Given the description of an element on the screen output the (x, y) to click on. 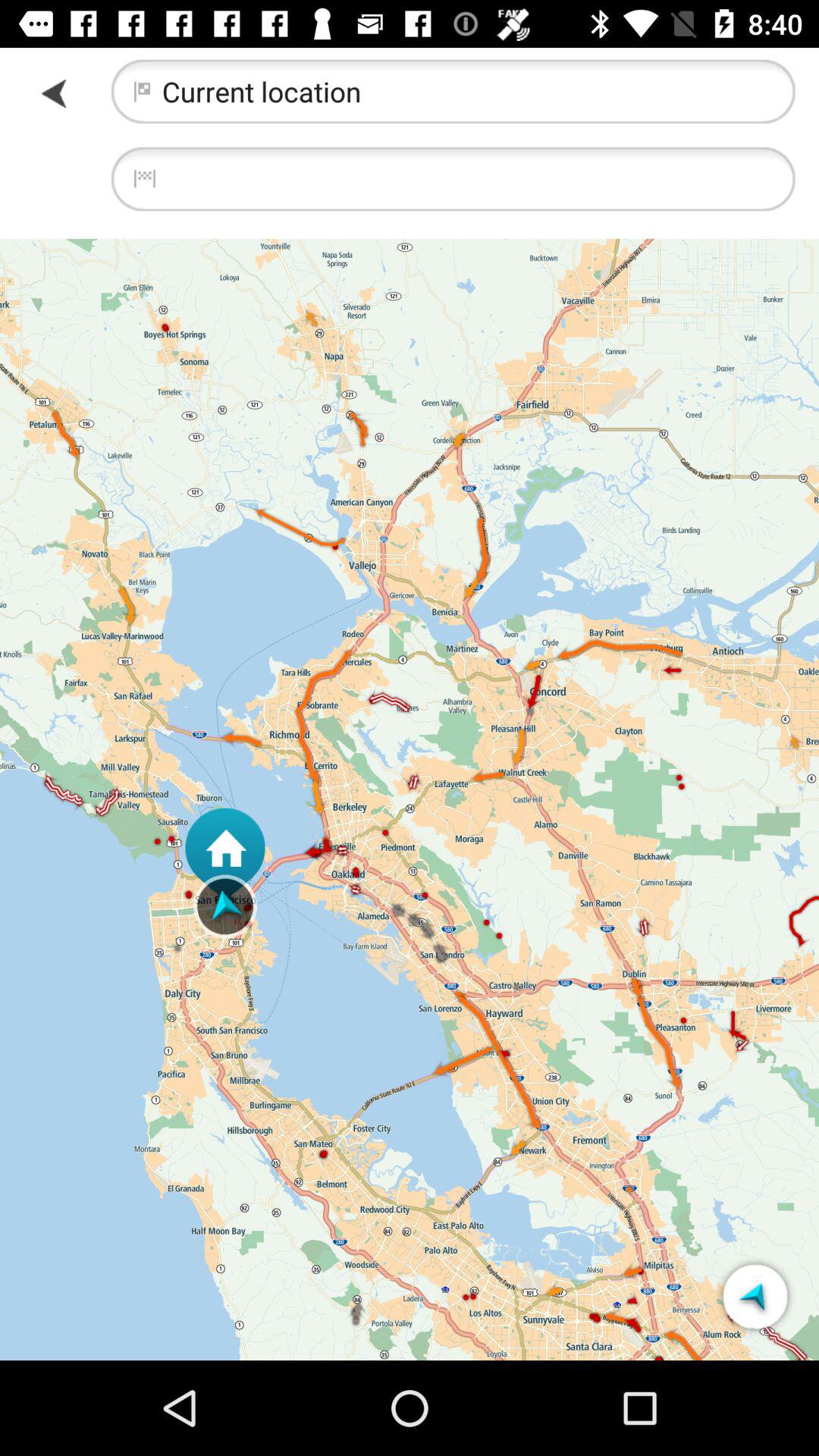
open item next to the current location item (55, 92)
